Given the description of an element on the screen output the (x, y) to click on. 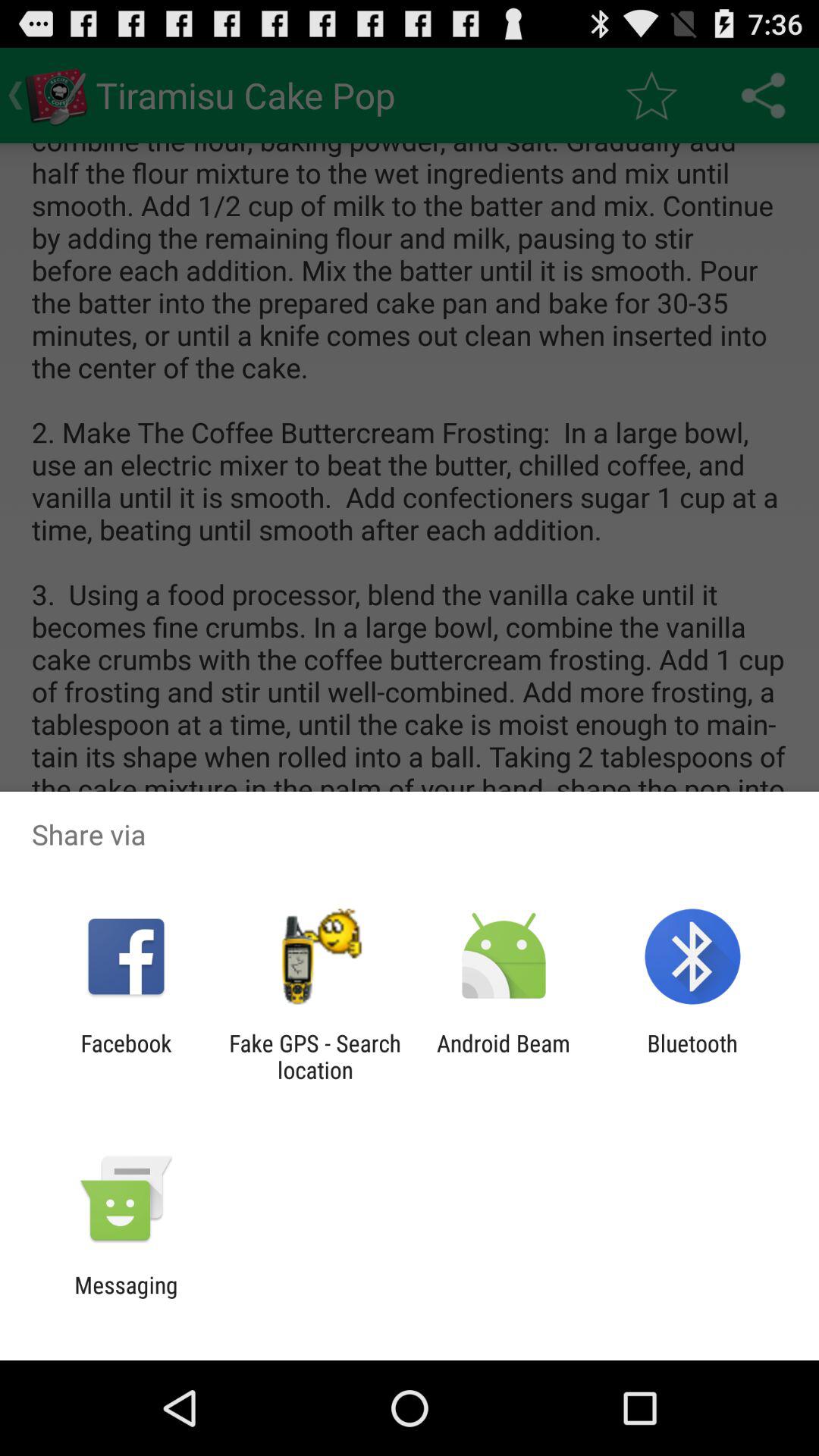
turn off the item to the right of the facebook item (314, 1056)
